Given the description of an element on the screen output the (x, y) to click on. 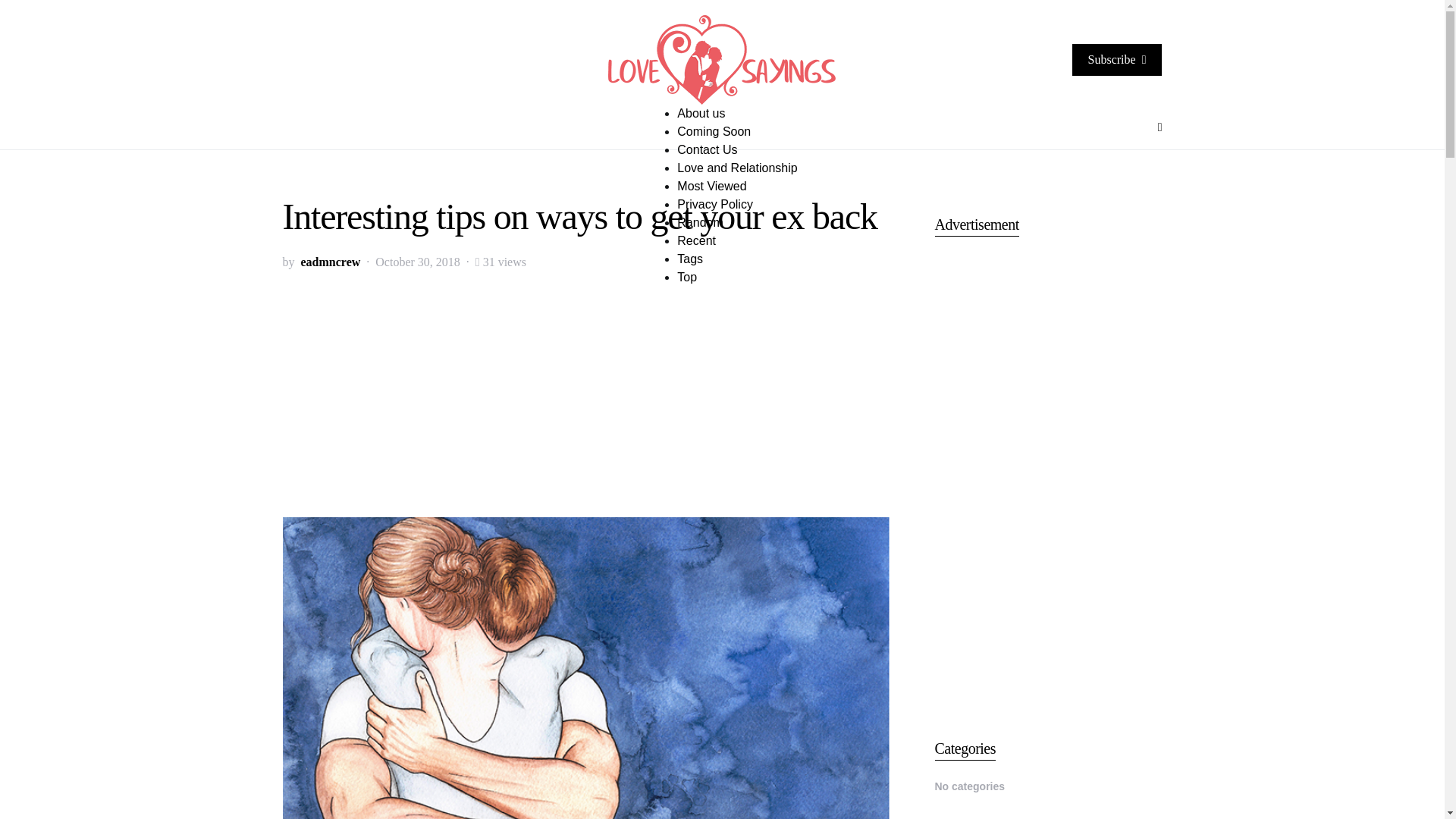
Privacy Policy (714, 203)
View all posts by eadmncrew (329, 262)
Coming Soon (714, 130)
Most Viewed (711, 185)
Tags (690, 257)
Subscribe (1116, 60)
Top (687, 276)
About us (701, 112)
Random (699, 221)
eadmncrew (329, 262)
